Given the description of an element on the screen output the (x, y) to click on. 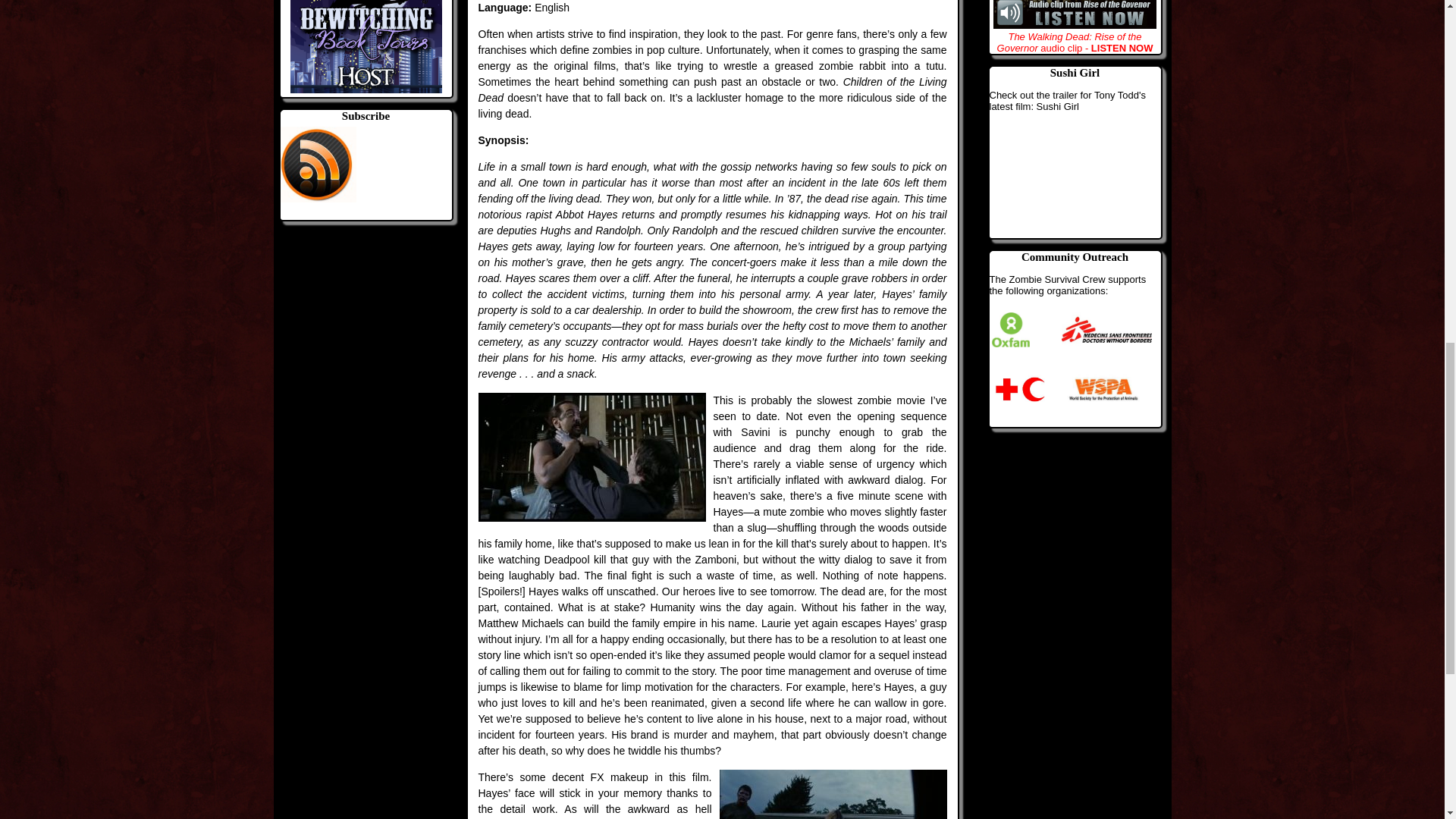
Medecins-Sans-Frontieres-Logo (1106, 330)
RedCrossRedCrescent (1019, 389)
Oxfam1 (1010, 330)
WSPA (1102, 389)
